Given the description of an element on the screen output the (x, y) to click on. 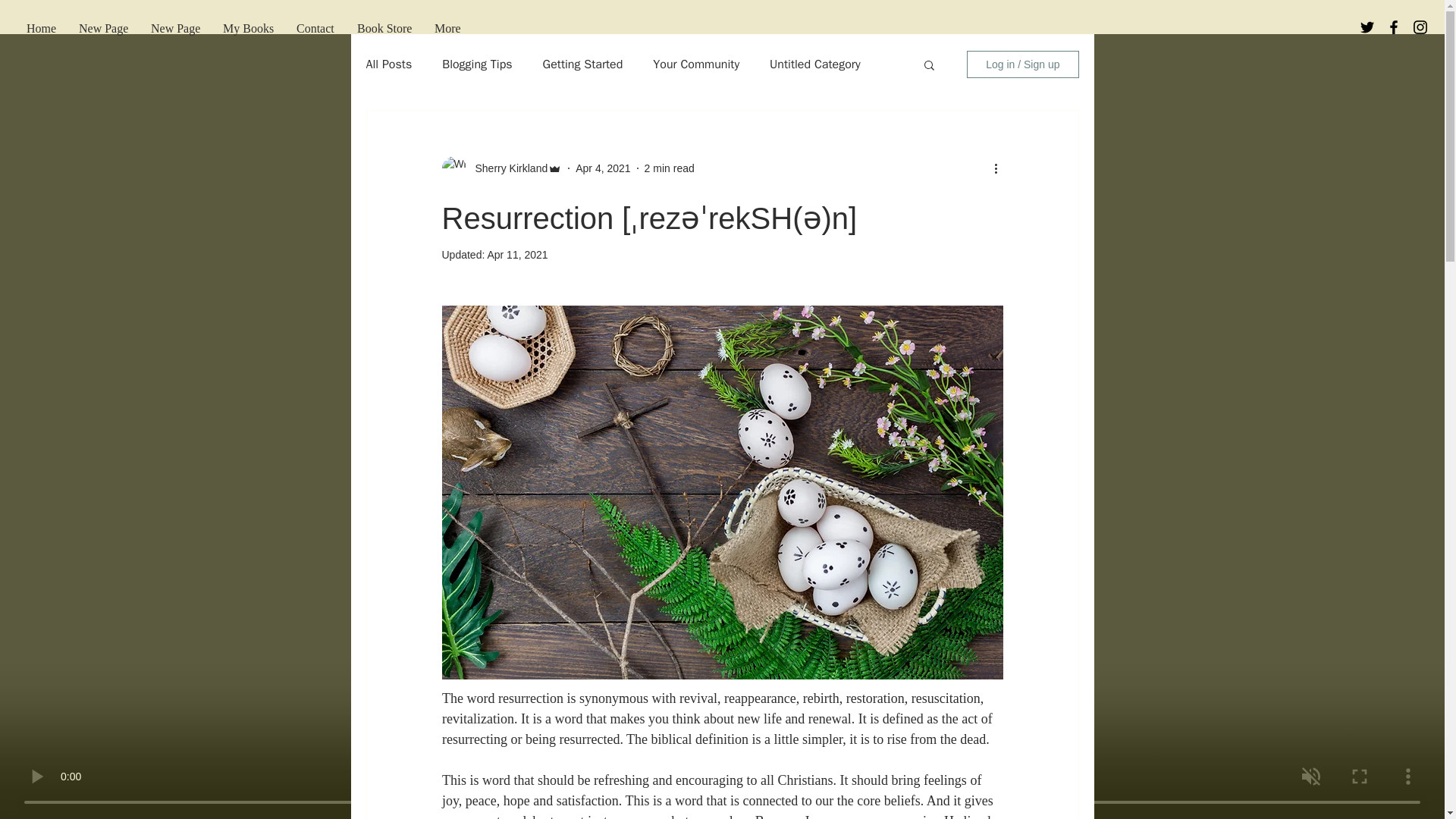
Untitled Category (815, 64)
Home (40, 28)
Your Community (695, 64)
Apr 4, 2021 (602, 168)
New Page (102, 28)
Blogging Tips (477, 64)
Sherry Kirkland (506, 168)
Contact (315, 28)
My Books (248, 28)
New Page (175, 28)
All Posts (388, 64)
2 min read (669, 168)
Book Store (384, 28)
Getting Started (583, 64)
Apr 11, 2021 (516, 254)
